Given the description of an element on the screen output the (x, y) to click on. 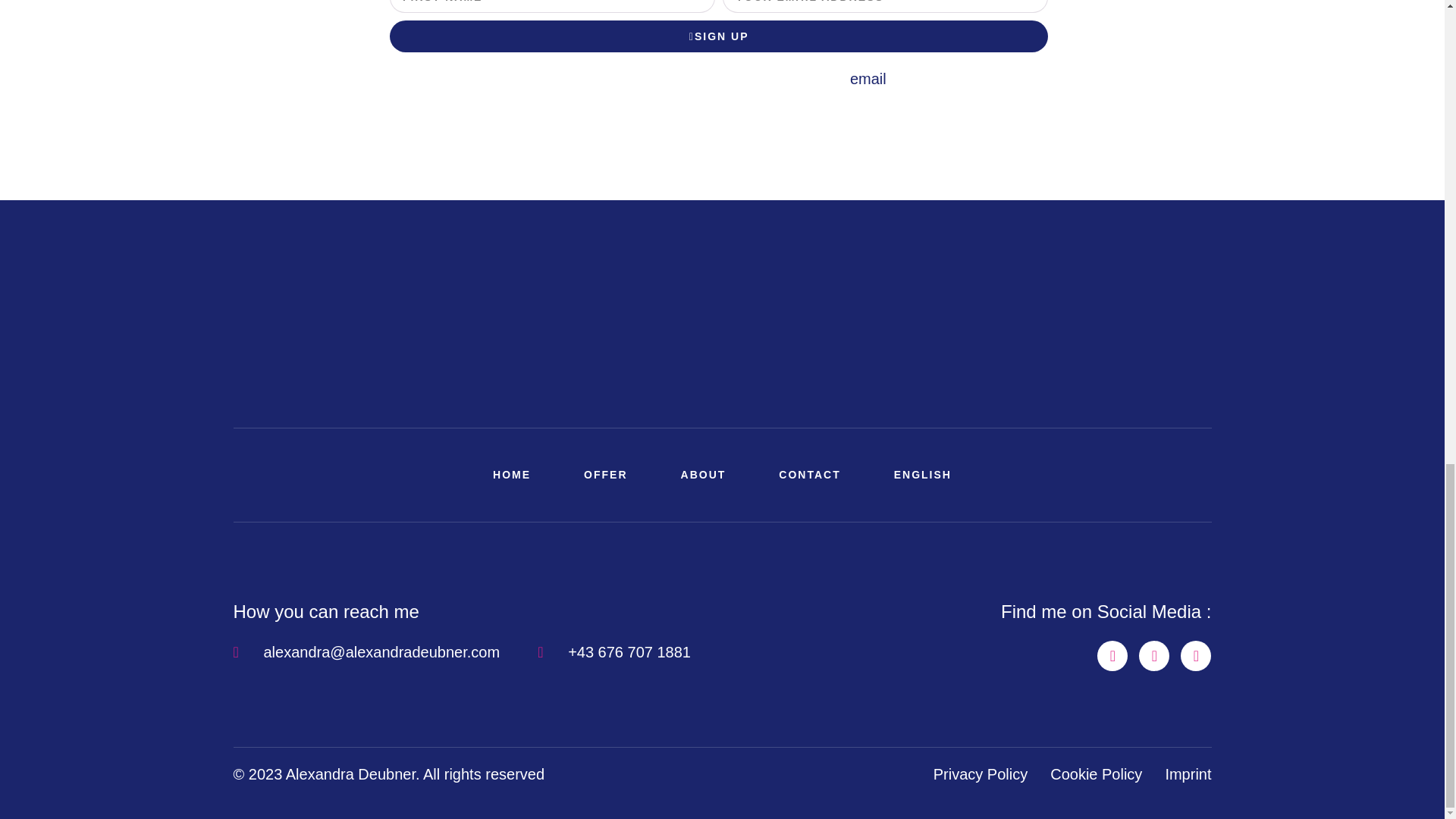
SIGN UP (719, 36)
OFFER (605, 474)
HOME (511, 474)
CONTACT (809, 474)
ABOUT (703, 474)
email (868, 78)
